Given the description of an element on the screen output the (x, y) to click on. 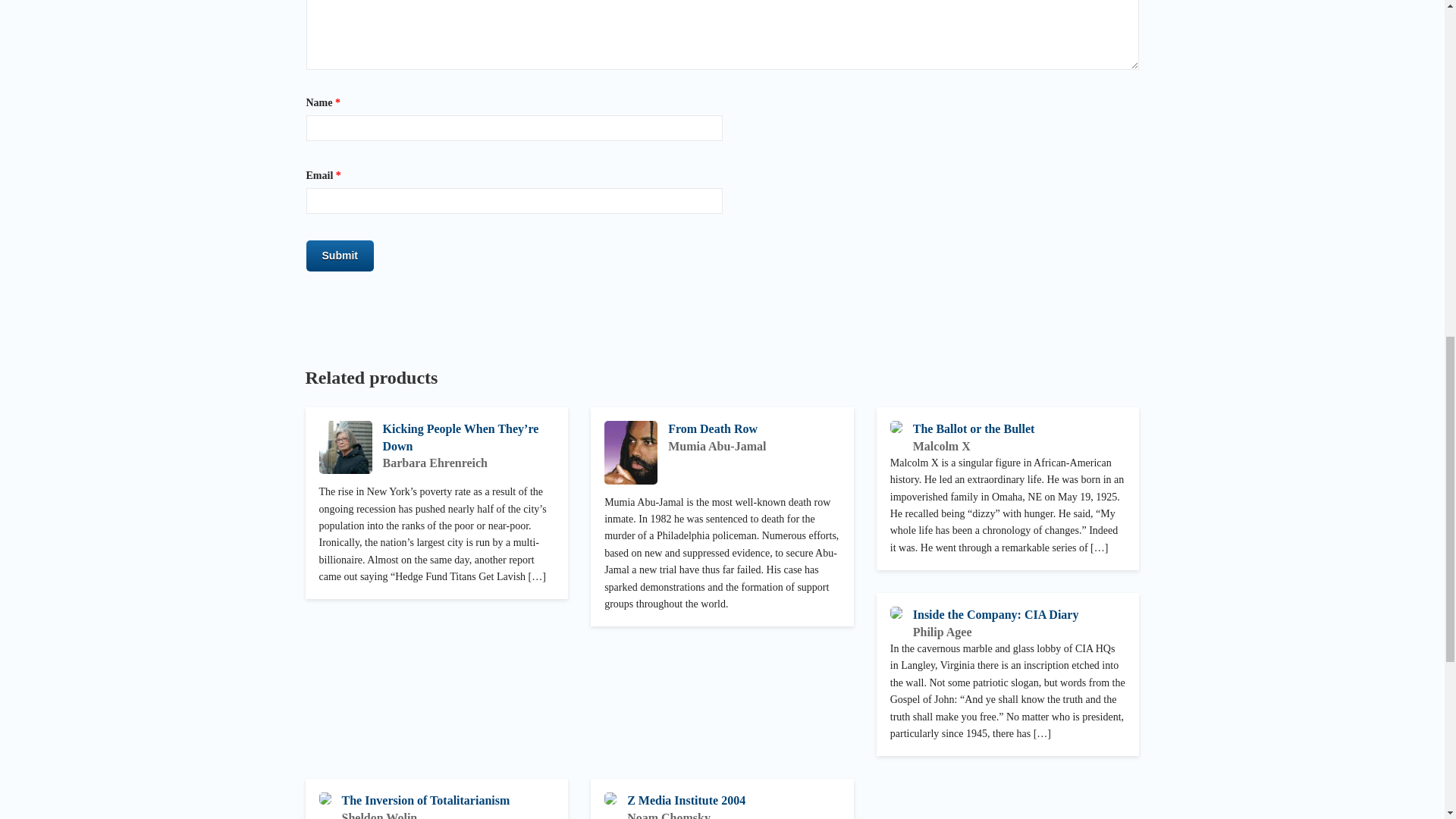
Submit (339, 255)
